Given the description of an element on the screen output the (x, y) to click on. 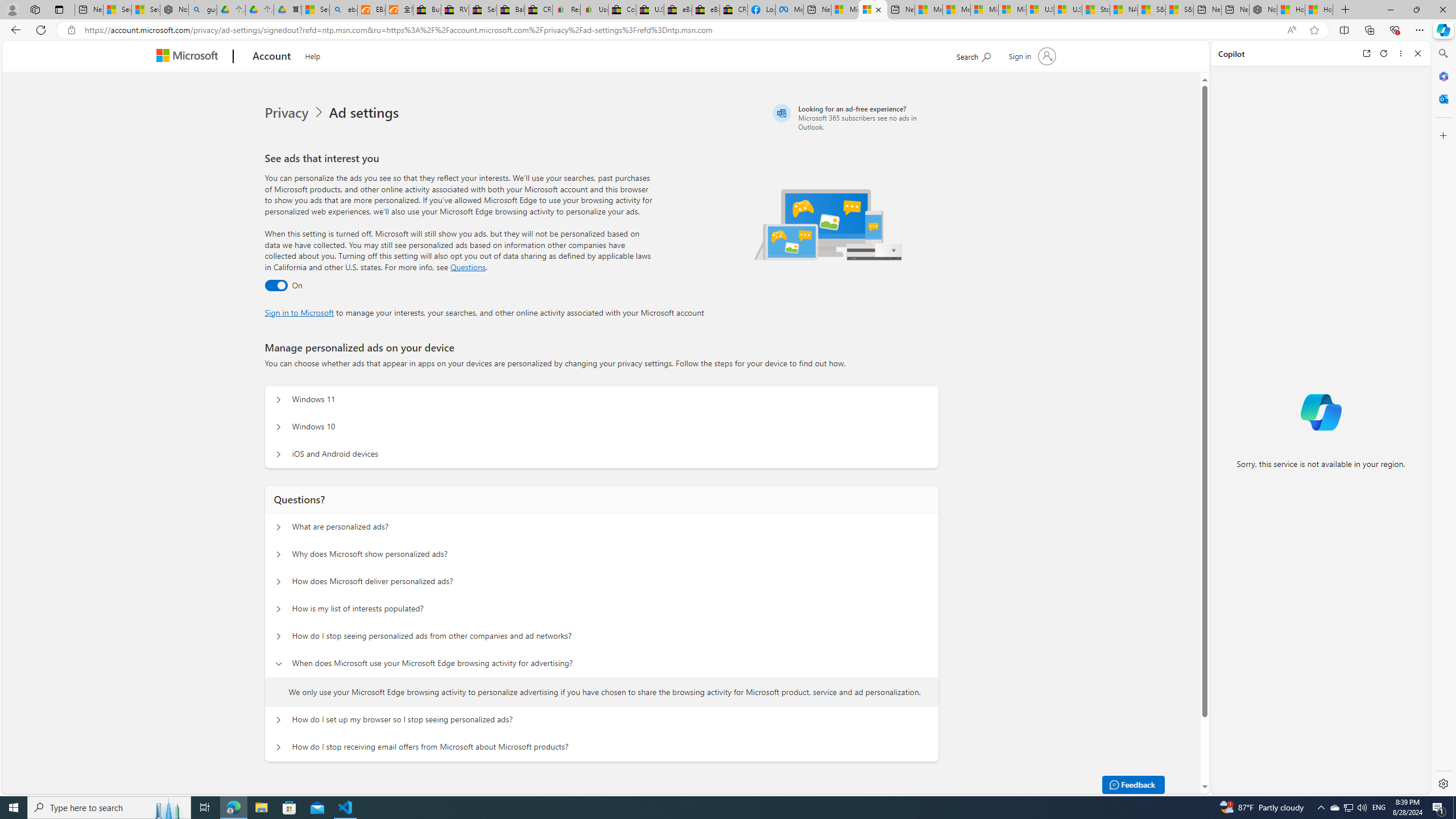
Settings (1442, 783)
Privacy (287, 112)
